Given the description of an element on the screen output the (x, y) to click on. 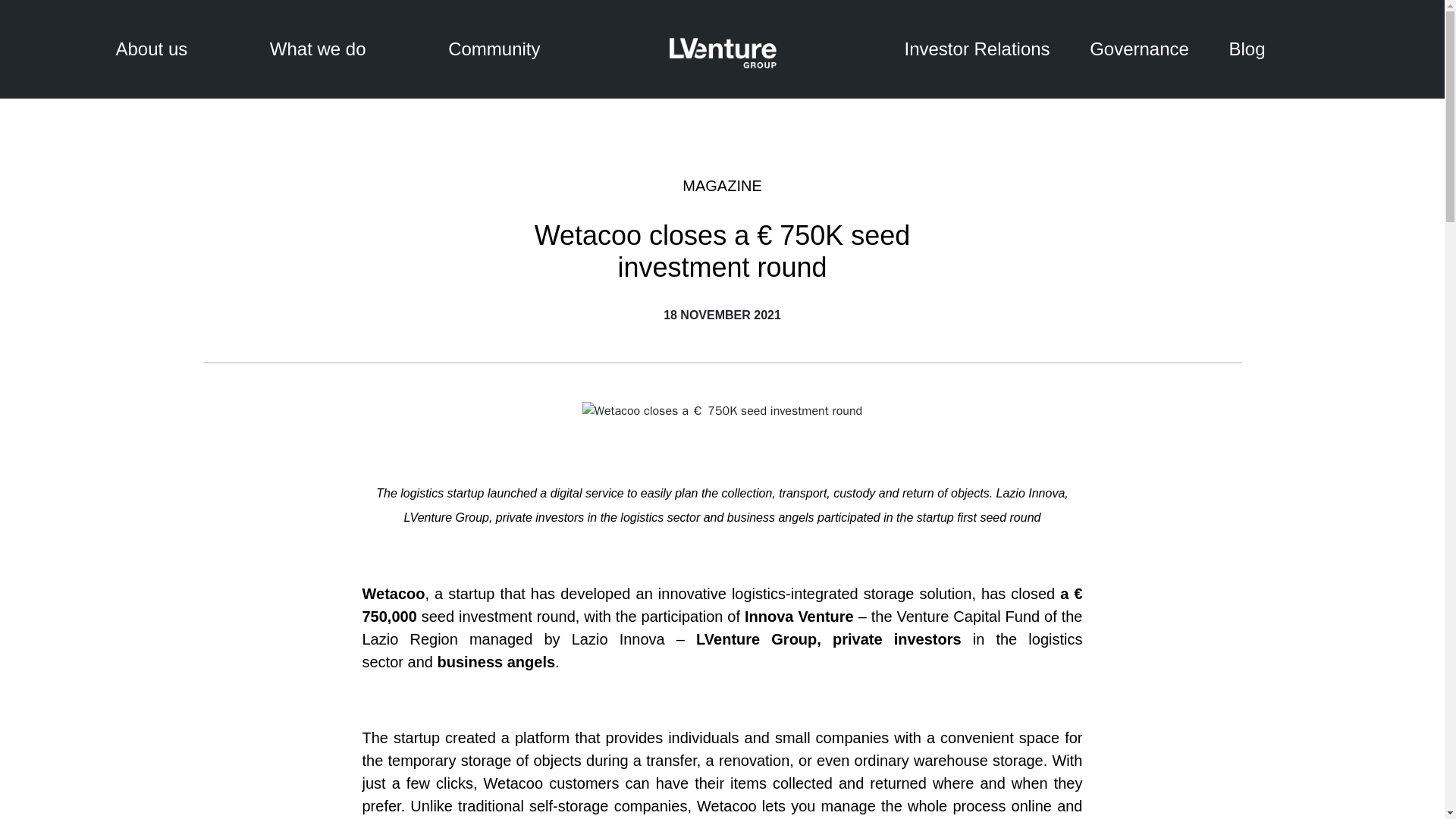
Community (494, 48)
Governance (1139, 48)
Investor Relations (976, 48)
Blog (1246, 48)
About us (151, 48)
What we do (317, 48)
